Given the description of an element on the screen output the (x, y) to click on. 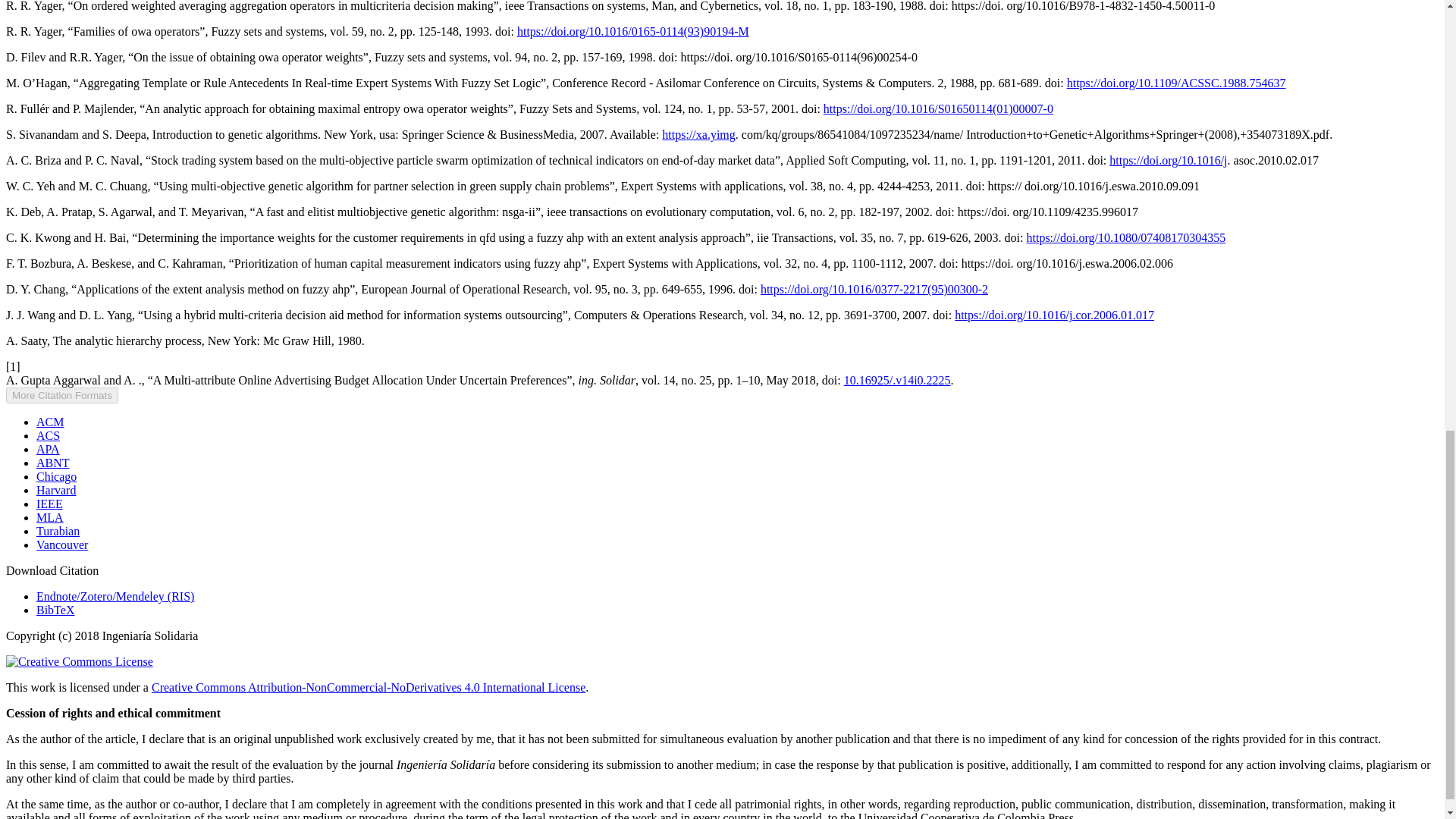
More Citation Formats (61, 395)
ACS (47, 435)
ACM (50, 421)
